Given the description of an element on the screen output the (x, y) to click on. 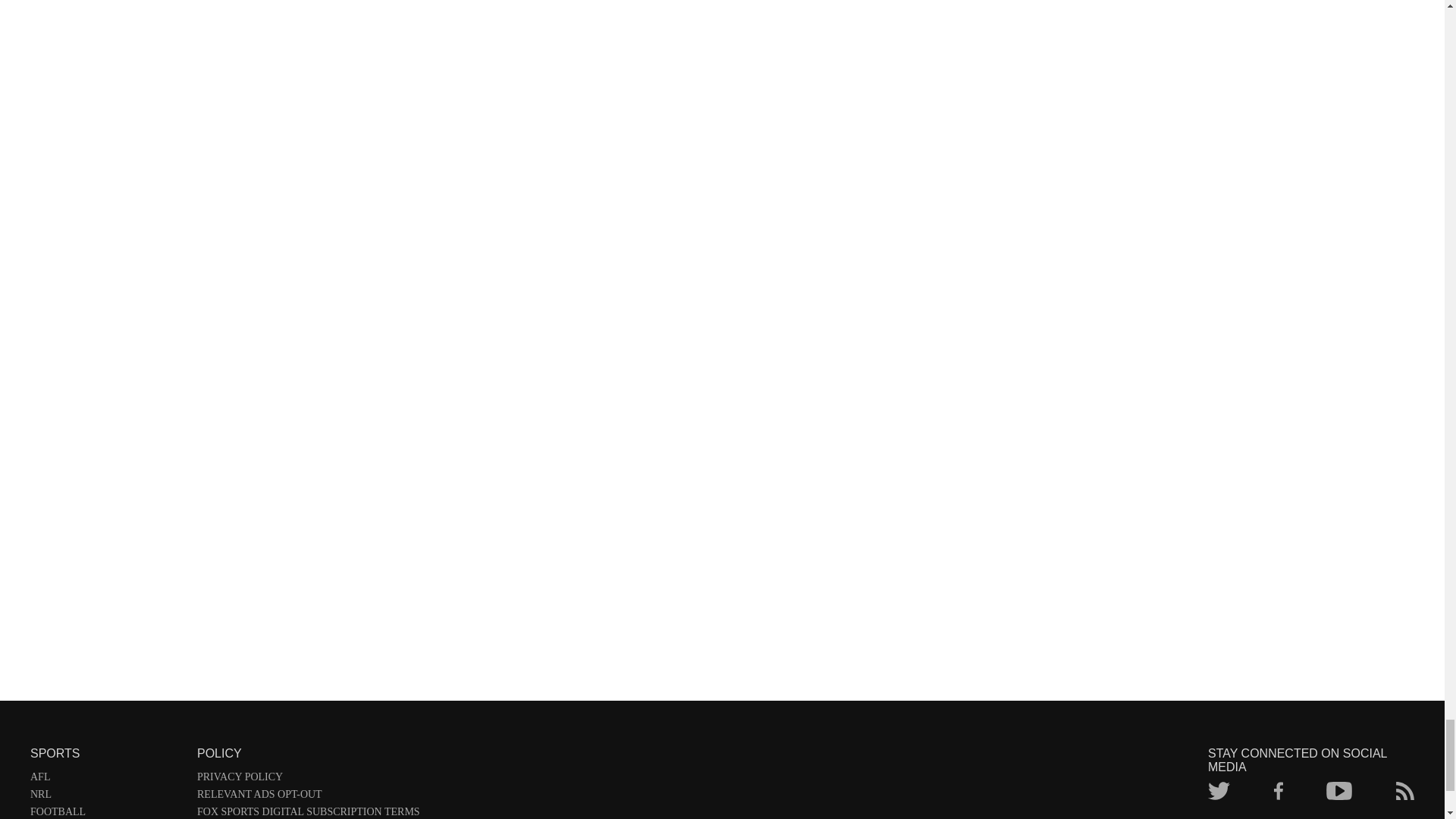
NRL (106, 796)
AFL (106, 779)
FOOTBALL (106, 812)
FOX SPORTS DIGITAL SUBSCRIPTION TERMS (308, 812)
RELEVANT ADS OPT-OUT (308, 796)
PRIVACY POLICY (308, 779)
